Given the description of an element on the screen output the (x, y) to click on. 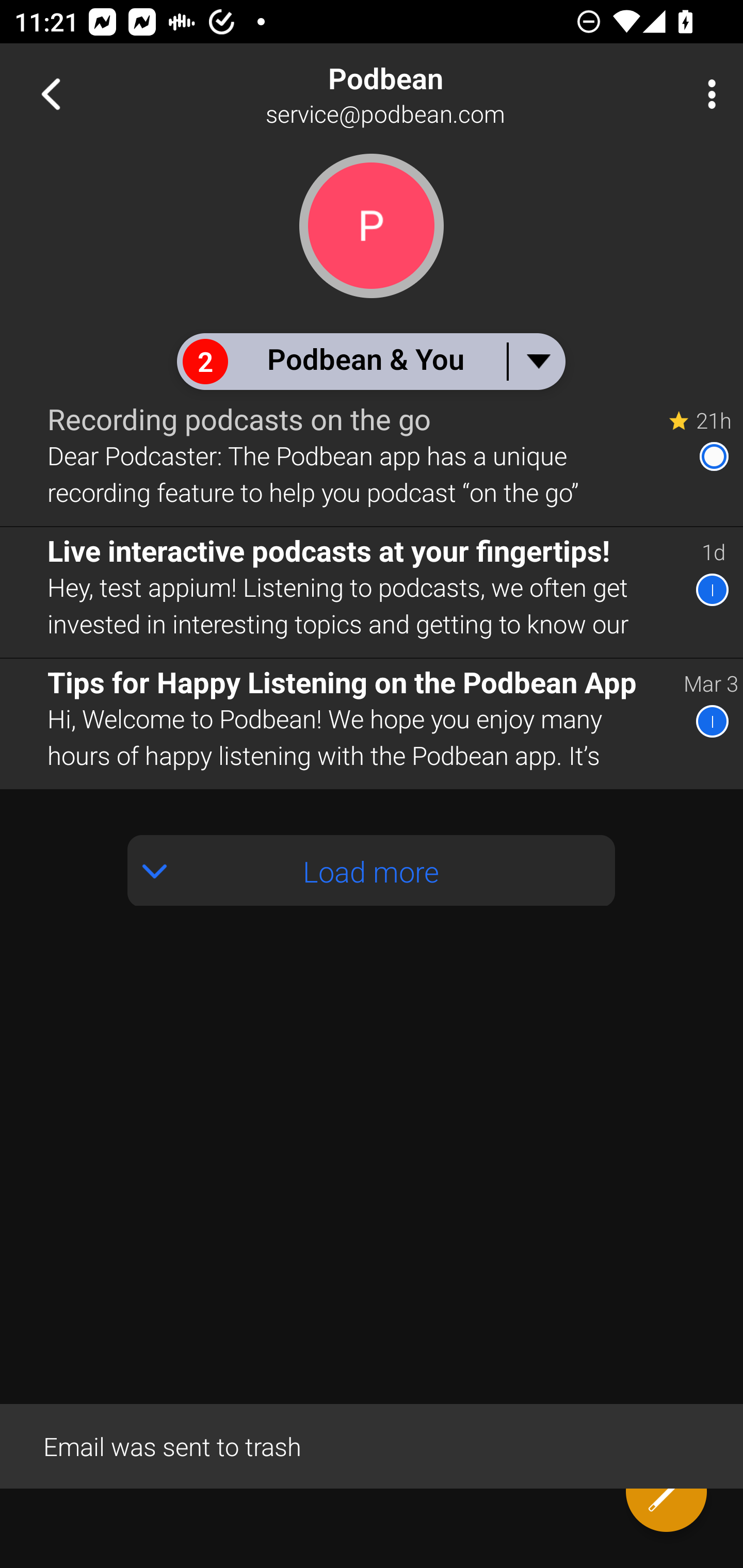
Navigate up (50, 93)
Podbean service@podbean.com (436, 93)
More Options (706, 93)
2 Podbean & You (370, 361)
Load more (371, 870)
Email was sent to trash (371, 1445)
